Given the description of an element on the screen output the (x, y) to click on. 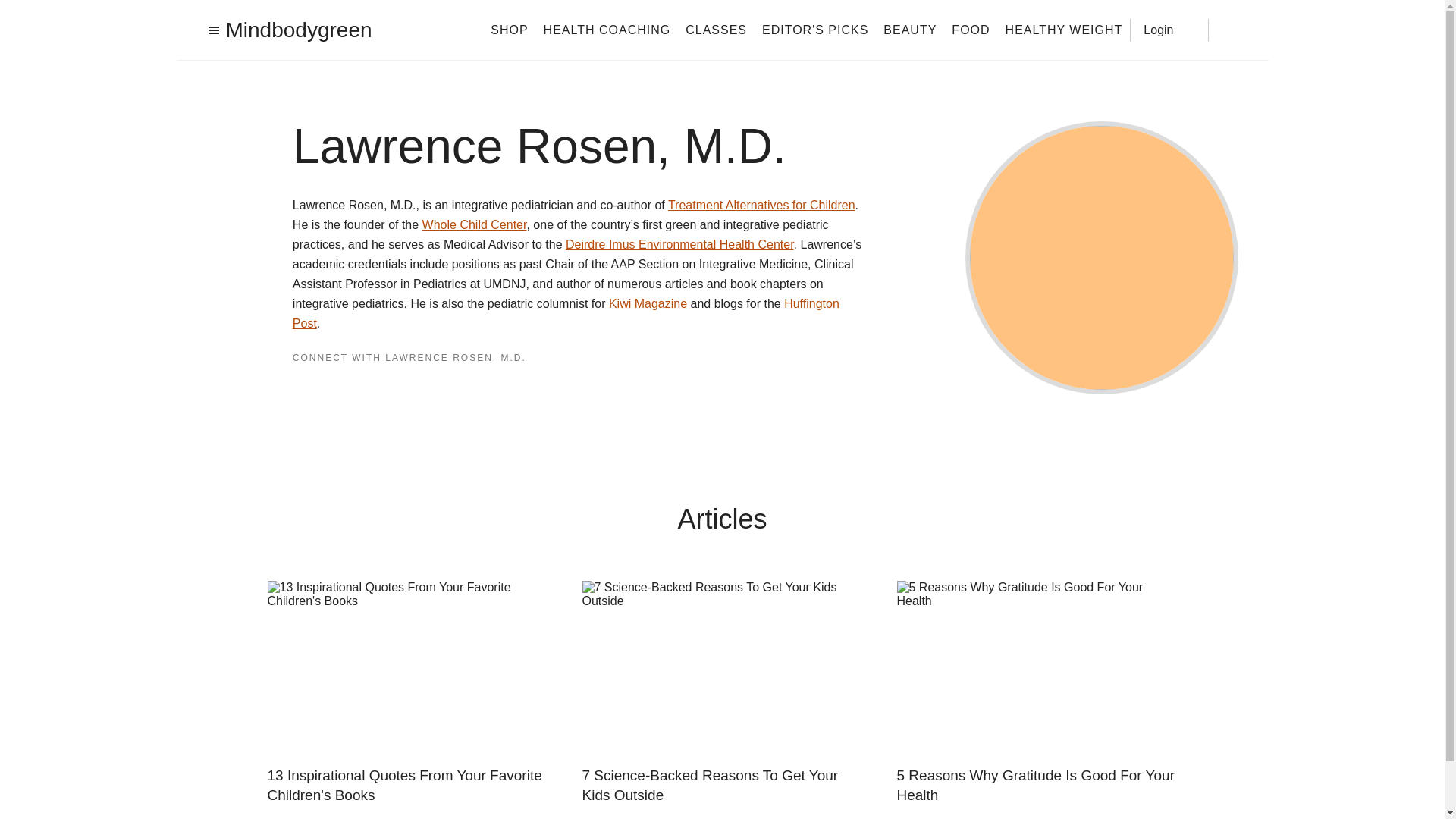
FOOD (971, 29)
Visit Lawrence Rosen, M.D. on facebook (298, 386)
13 Inspirational Quotes From Your Favorite Children's Books (406, 785)
BEAUTY (909, 29)
Visit Lawrence Rosen, M.D. on website (357, 388)
Visit Lawrence Rosen, M.D. on facebook (298, 388)
SHOP (508, 29)
Search (1230, 29)
Visit Lawrence Rosen, M.D. on website (367, 386)
Search (1230, 29)
Deirdre Imus Environmental Health Center (679, 244)
HEALTH COACHING (607, 29)
CLASSES (715, 29)
Whole Child Center (474, 224)
Huffington Post (566, 313)
